Given the description of an element on the screen output the (x, y) to click on. 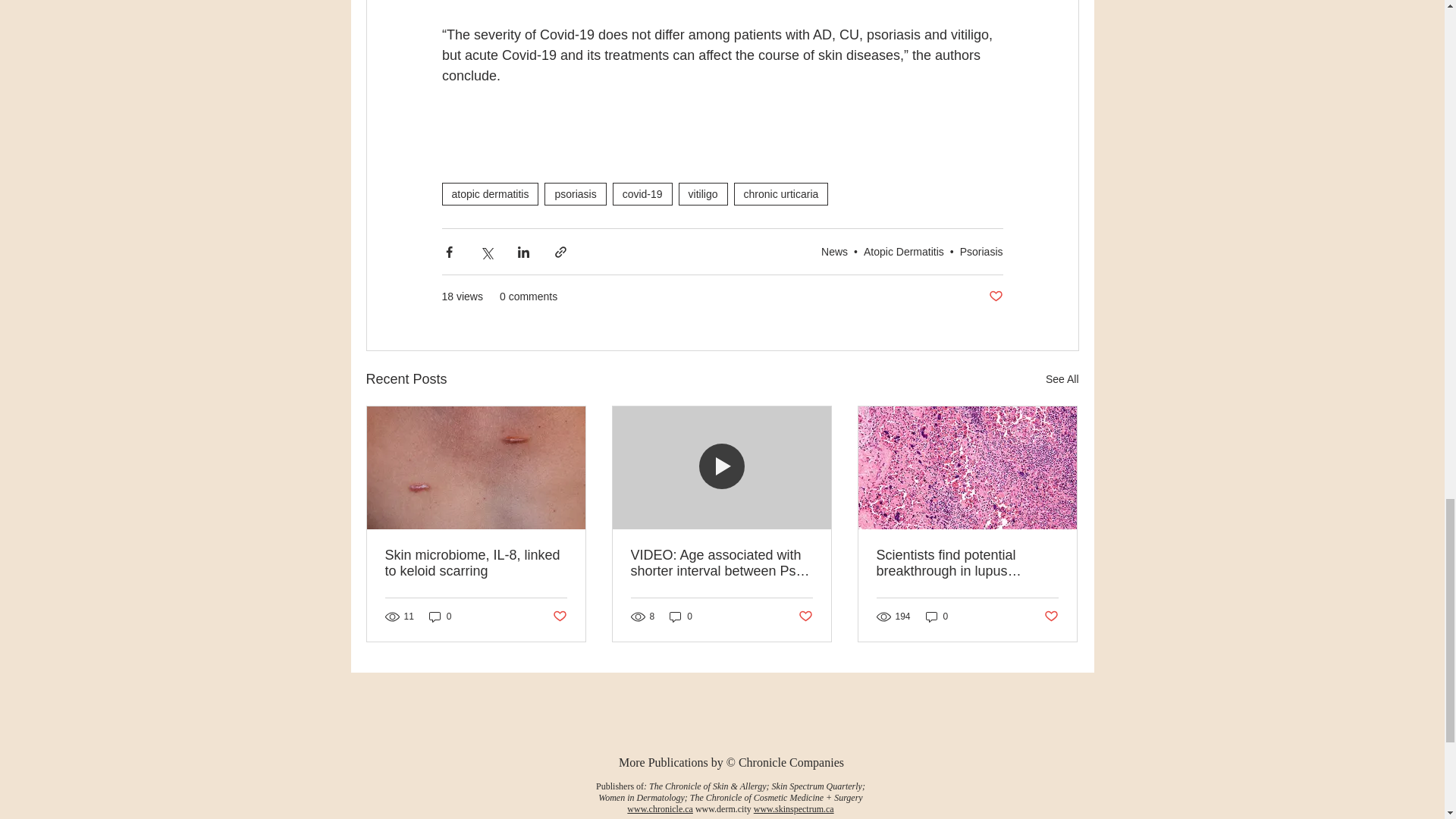
vitiligo (703, 193)
atopic dermatitis (489, 193)
covid-19 (642, 193)
psoriasis (574, 193)
